Given the description of an element on the screen output the (x, y) to click on. 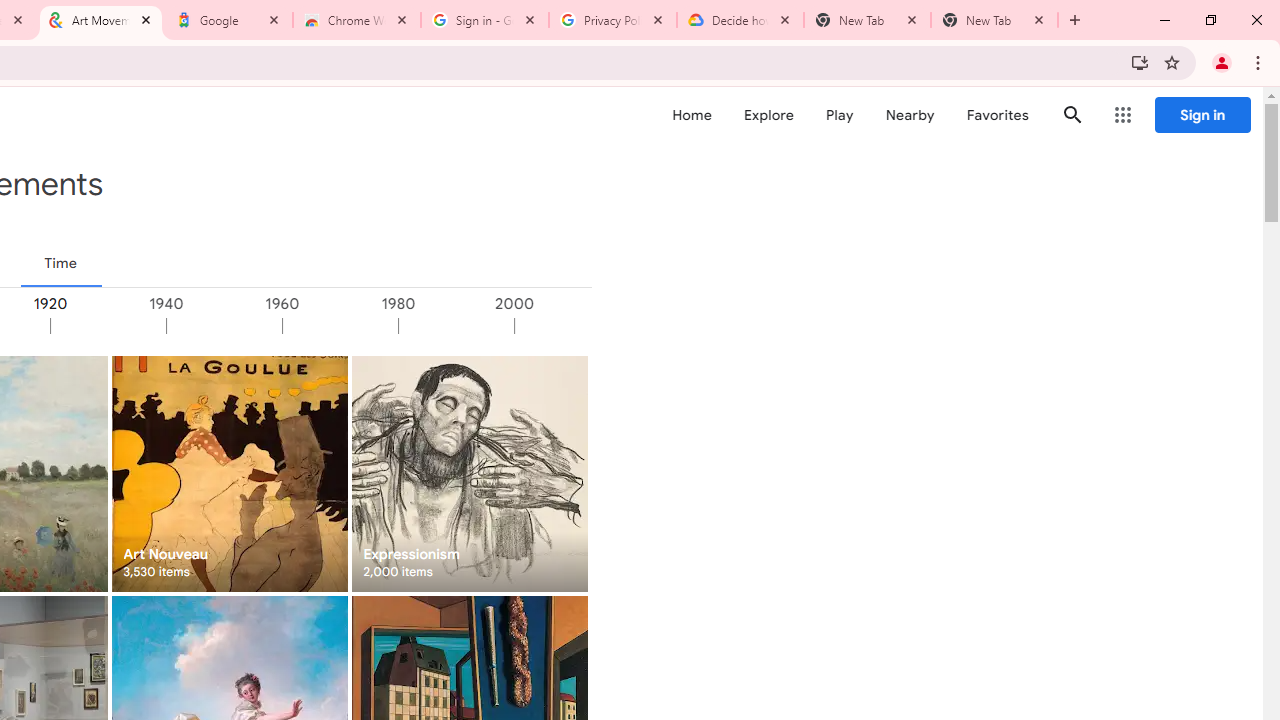
1940 (223, 326)
Nearby (910, 115)
Art Nouveau 3,530 items (229, 473)
Chrome Web Store - Color themes by Chrome (357, 20)
Install Google Arts & Culture (1139, 62)
Time (60, 263)
2000 (571, 326)
